Given the description of an element on the screen output the (x, y) to click on. 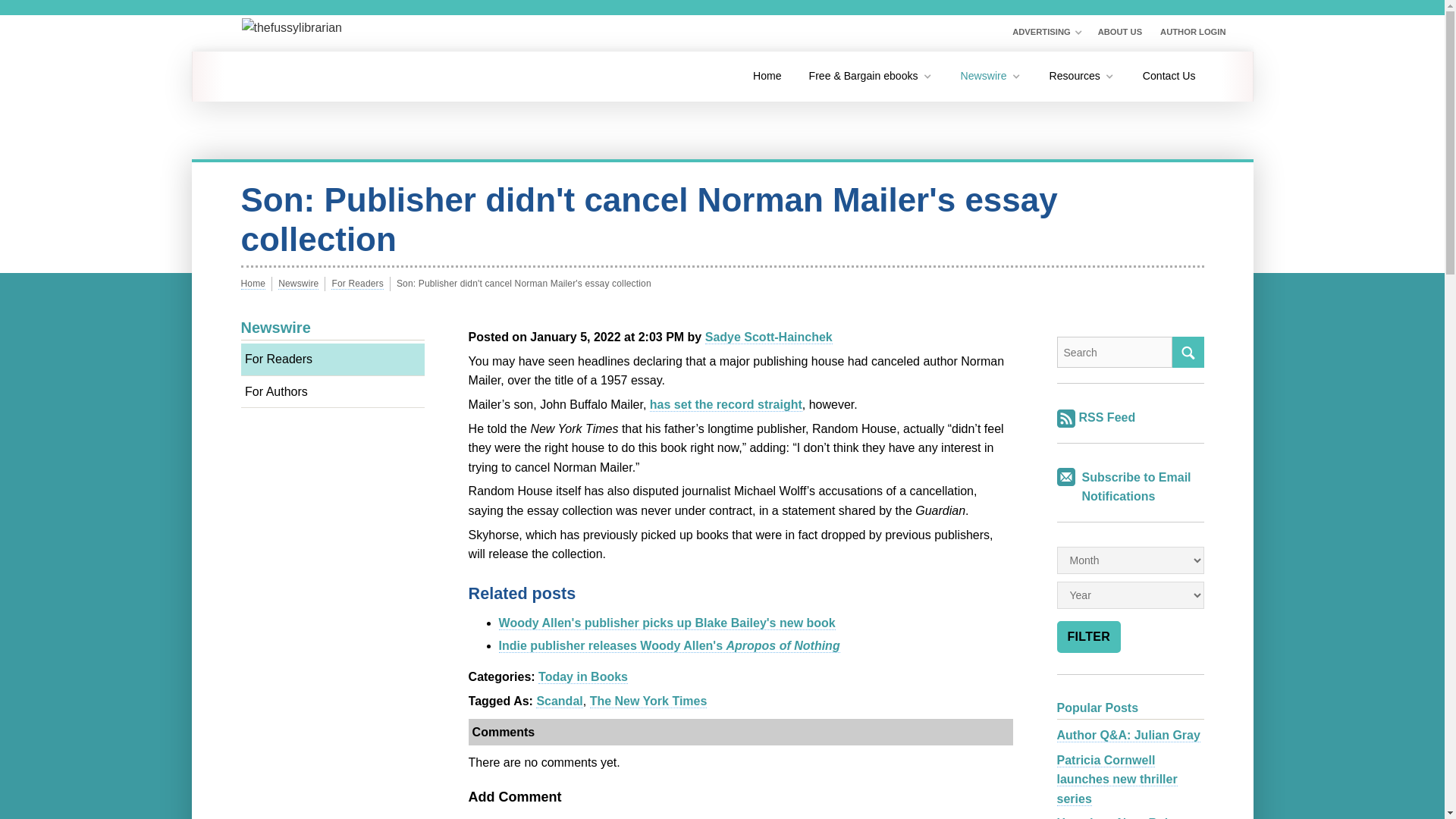
ADVERTISING (1046, 32)
Home (767, 76)
Newswire (991, 76)
Resources (1081, 76)
ABOUT US (1119, 32)
AUTHOR LOGIN (1192, 32)
Contact Us (1169, 76)
